Given the description of an element on the screen output the (x, y) to click on. 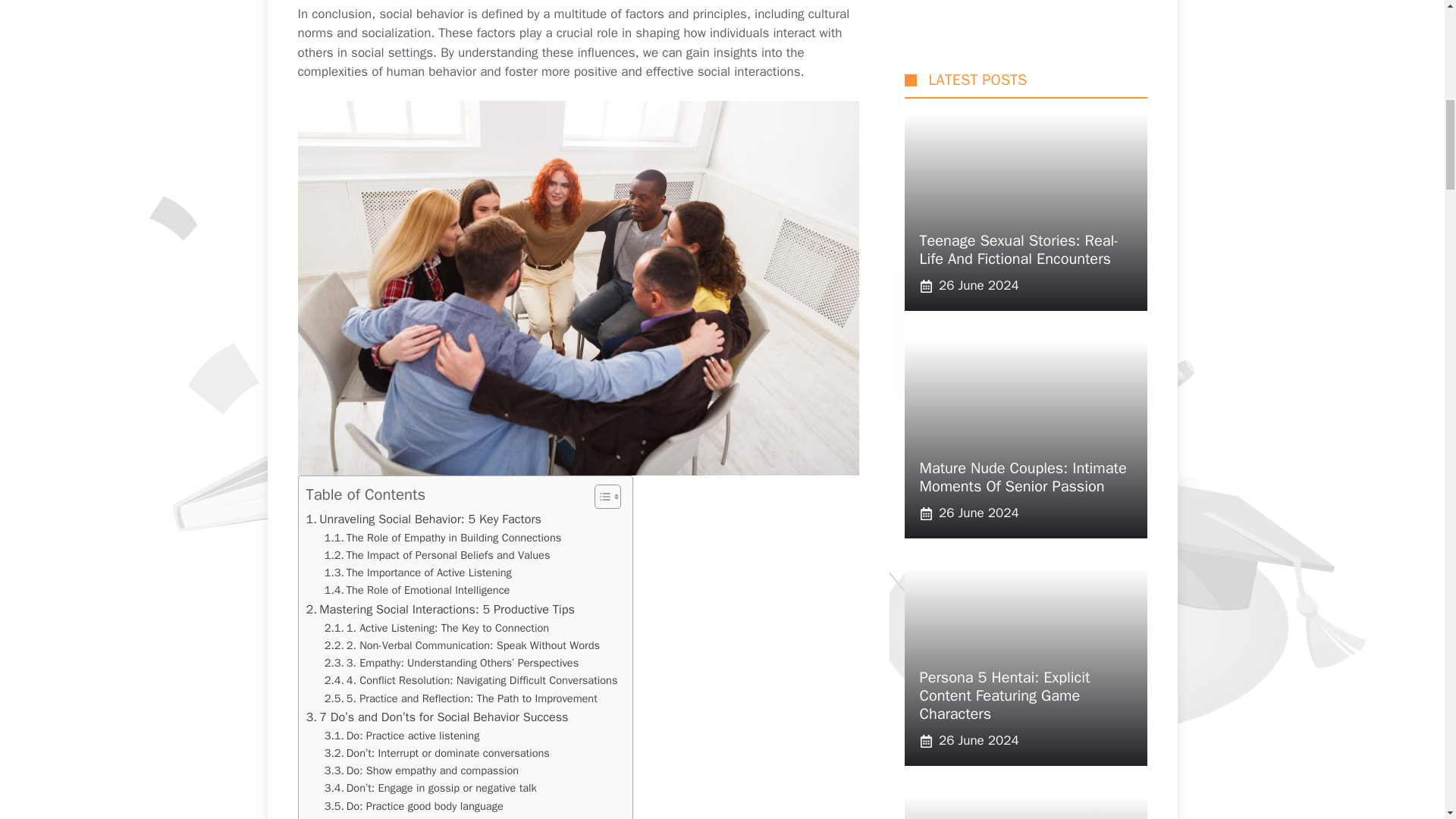
2. Non-Verbal Communication: Speak Without Words (461, 645)
4. Conflict Resolution: Navigating Difficult Conversations (470, 680)
The Role of Emotional Intelligence (417, 589)
1. Active Listening: The Key to Connection (436, 628)
Do: Practice active listening (402, 735)
The Role of Empathy in Building Connections (443, 538)
Unraveling Social Behavior: 5 Key Factors (423, 519)
2. Non-Verbal Communication: Speak Without Words (461, 645)
The Impact of Personal Beliefs and Values (437, 555)
Mastering Social Interactions: 5 Productive Tips (440, 609)
Do: Practice good body language (413, 805)
Unraveling Social Behavior: 5 Key Factors (423, 519)
The Importance of Active Listening (418, 572)
Mastering Social Interactions: 5 Productive Tips (440, 609)
Do: Show empathy and compassion (421, 770)
